Given the description of an element on the screen output the (x, y) to click on. 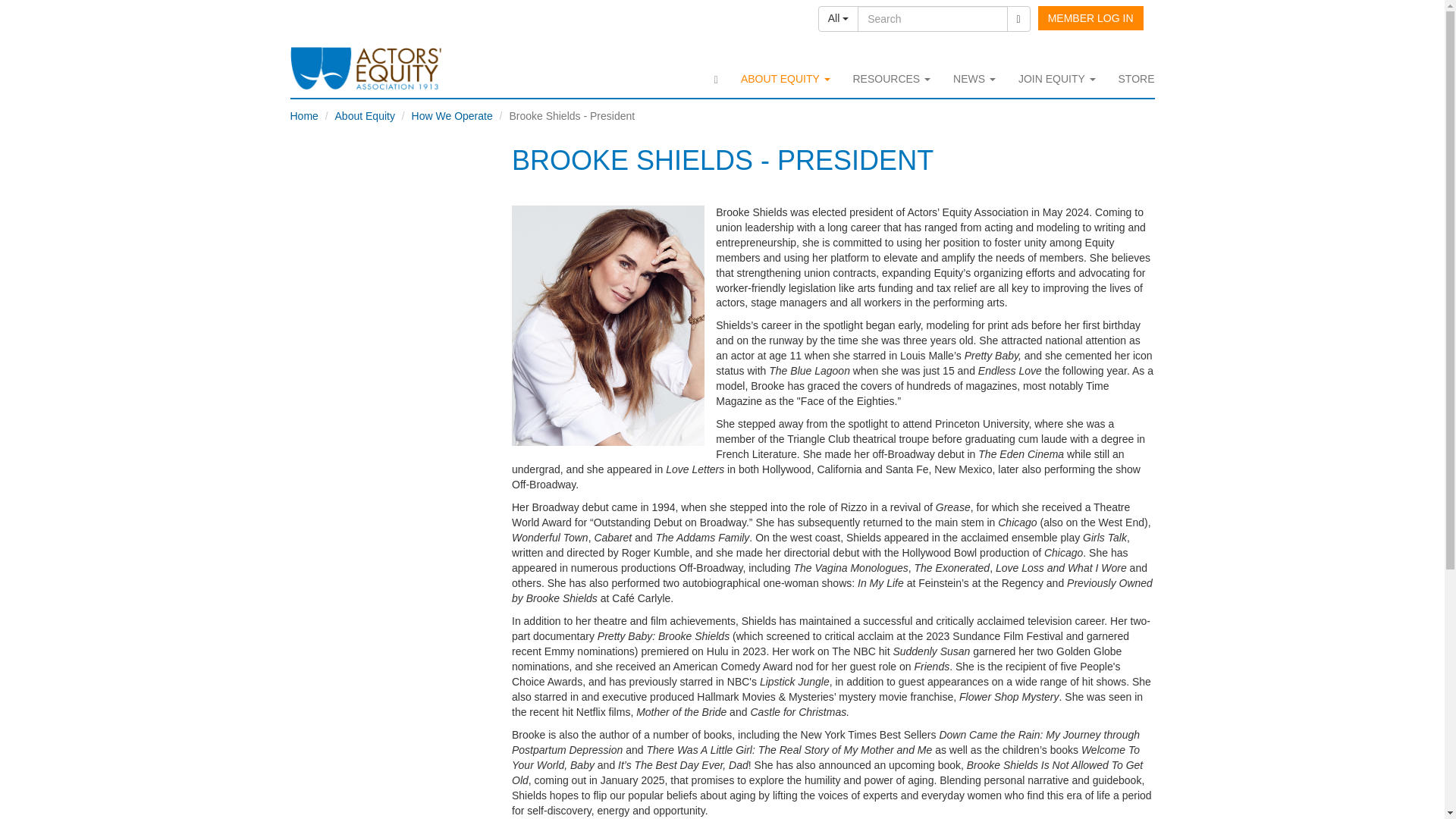
Search (932, 18)
ABOUT EQUITY (785, 78)
RESOURCES (891, 78)
Search (1018, 18)
MEMBER LOG IN (1090, 17)
NEWS (974, 78)
RESOURCES (891, 78)
All (838, 18)
ABOUT EQUITY (785, 78)
